Given the description of an element on the screen output the (x, y) to click on. 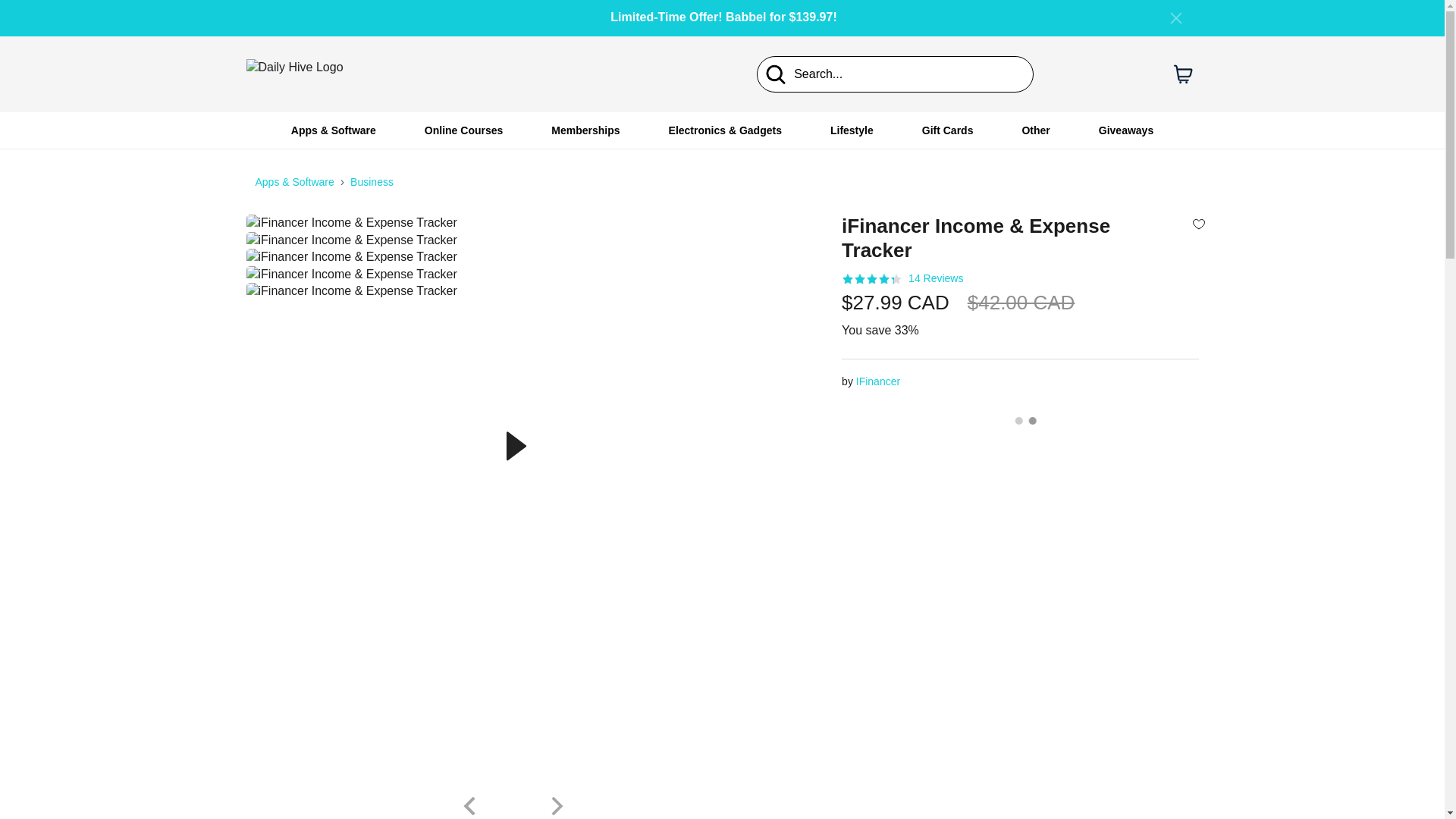
Add to wishlist (1198, 223)
